Given the description of an element on the screen output the (x, y) to click on. 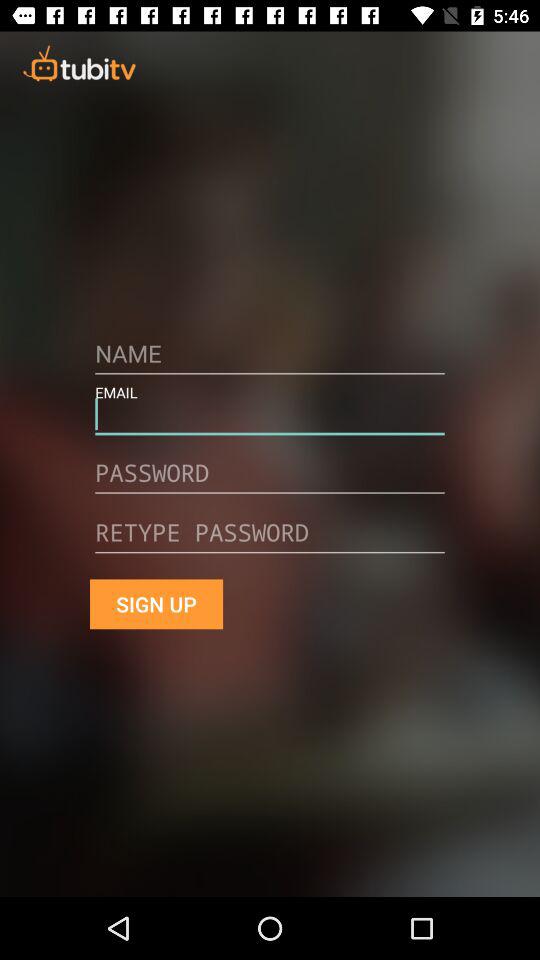
use the password (270, 480)
